Given the description of an element on the screen output the (x, y) to click on. 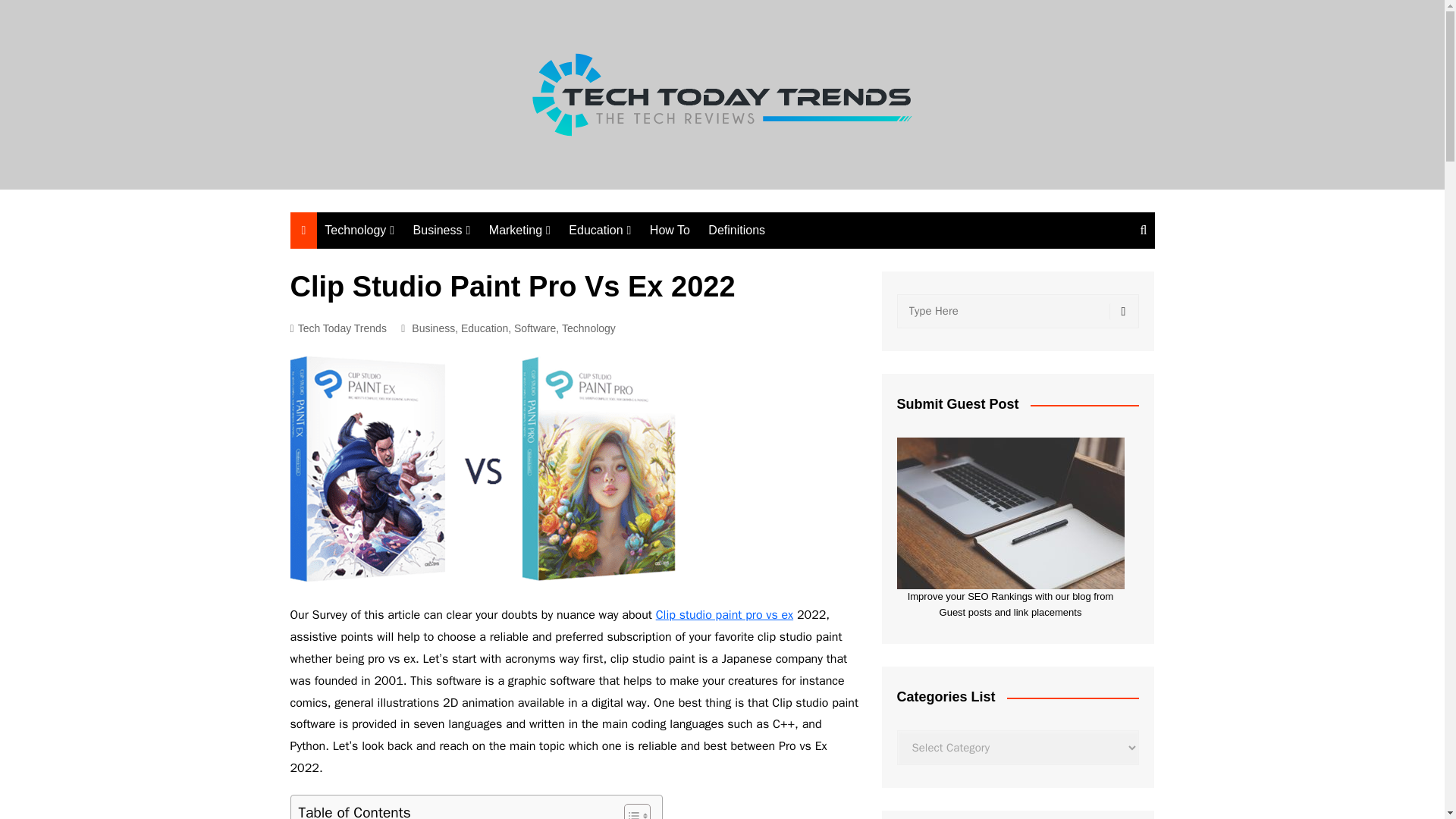
Games (564, 335)
Business (442, 230)
Education (484, 328)
Gadgets (400, 360)
Mobile (400, 386)
How To (669, 230)
Travel (644, 285)
Software (534, 328)
Education (599, 230)
Android (566, 385)
Submit Guest Post (1010, 512)
Social Media (564, 260)
Tech Today Trends (337, 328)
News (644, 260)
Definitions (736, 230)
